Given the description of an element on the screen output the (x, y) to click on. 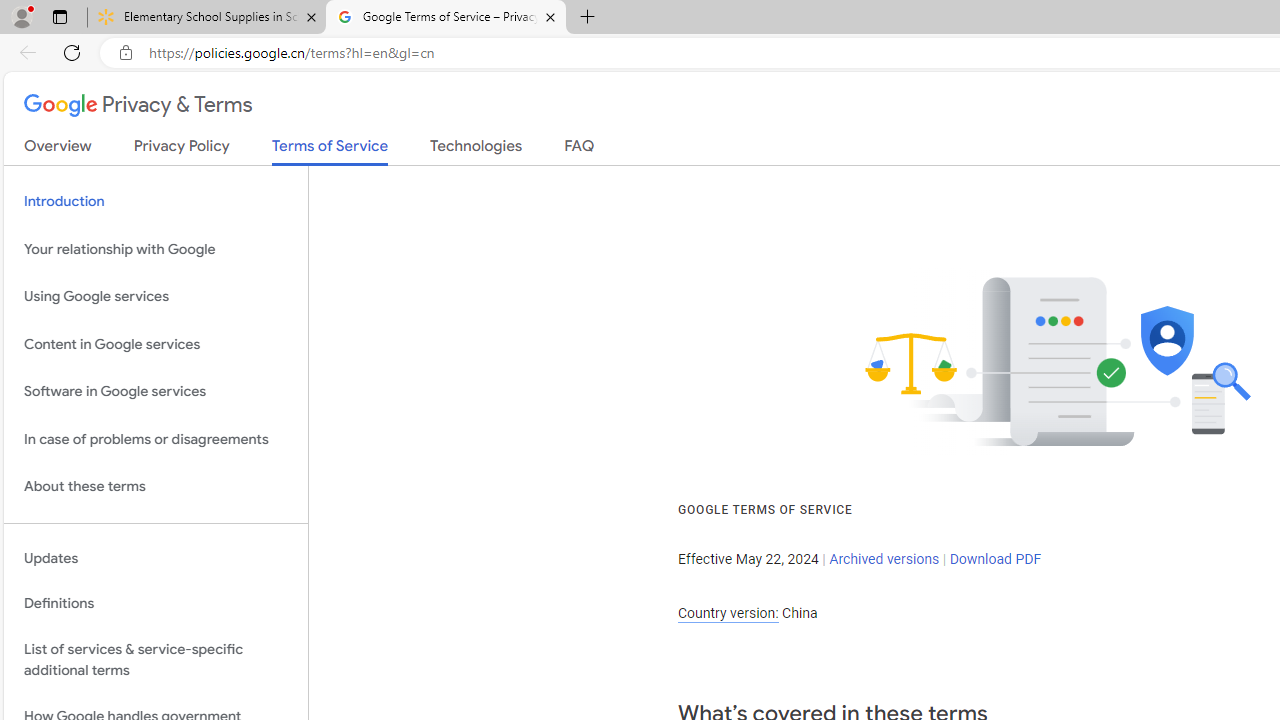
Using Google services (155, 296)
Content in Google services (155, 343)
Overview (58, 150)
Technologies (476, 150)
Privacy Policy (181, 150)
Software in Google services (155, 391)
Country version: (728, 613)
